Given the description of an element on the screen output the (x, y) to click on. 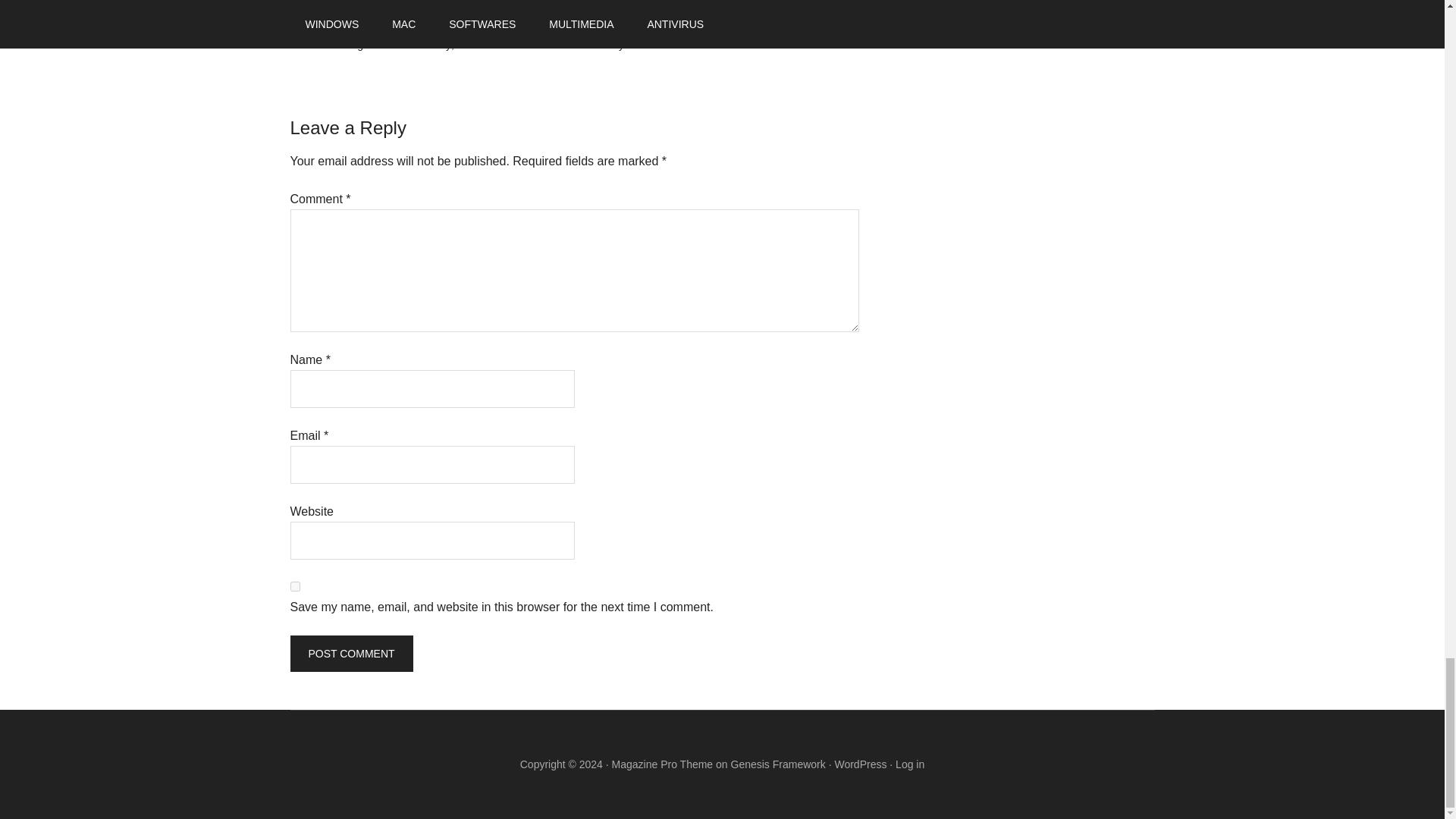
Windows (372, 10)
NCh PhotoPad Registration code (433, 28)
Post Comment (350, 653)
yes (294, 586)
PhotoPad Image Editor License Code (752, 28)
PhotoPad Image Editor Crack (587, 28)
